Given the description of an element on the screen output the (x, y) to click on. 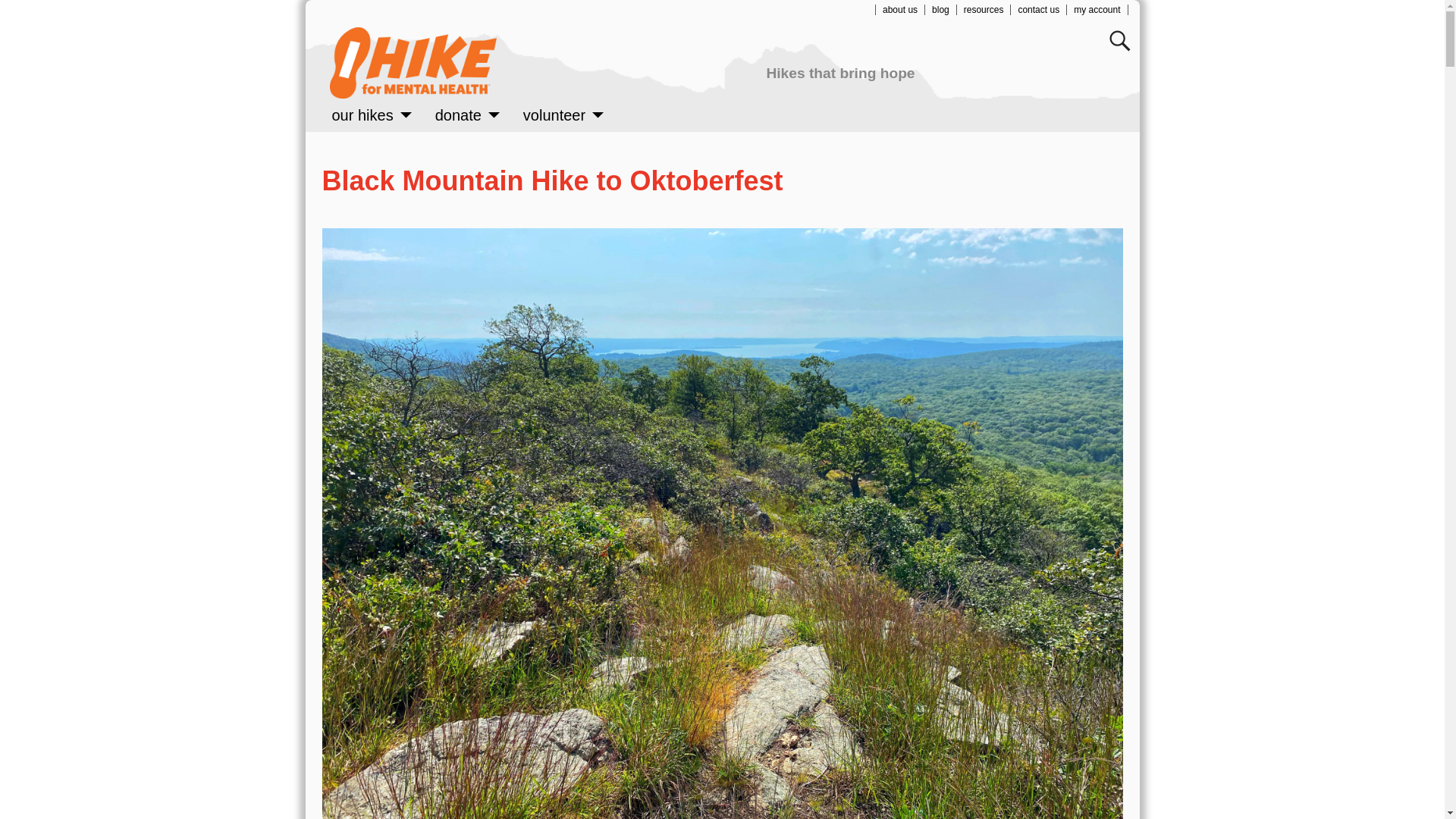
volunteer (563, 114)
blog (940, 9)
contact us (1038, 9)
our hikes (371, 114)
resources (983, 9)
my account (1096, 9)
donate (467, 114)
about us (900, 9)
